Given the description of an element on the screen output the (x, y) to click on. 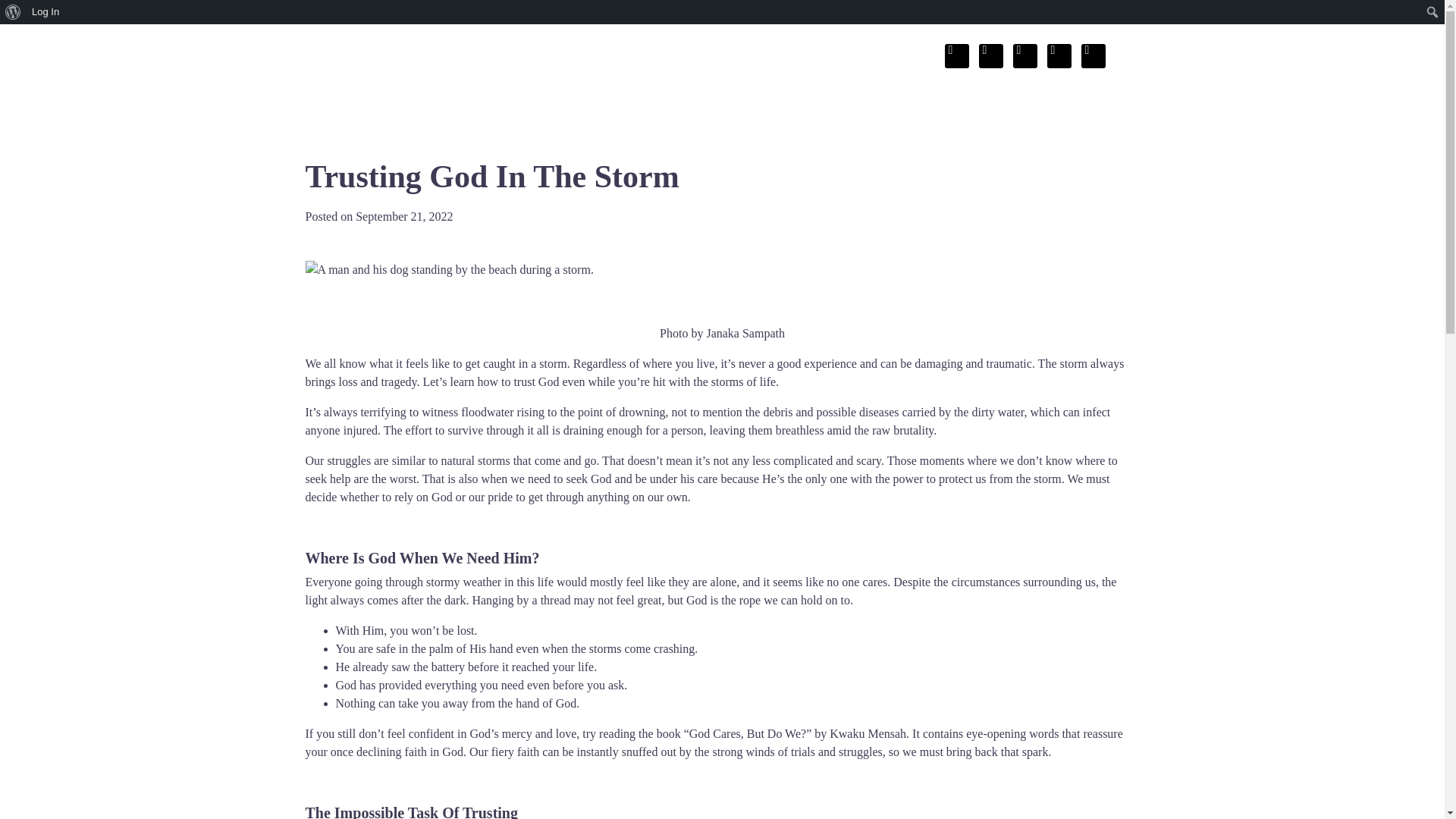
Contact Us (957, 113)
Janaka Sampath (745, 332)
Members (1044, 113)
Log In (45, 12)
About the Author (852, 113)
Activity (1120, 113)
Kwaku Mensah (867, 733)
Home (759, 113)
Search (16, 13)
